Given the description of an element on the screen output the (x, y) to click on. 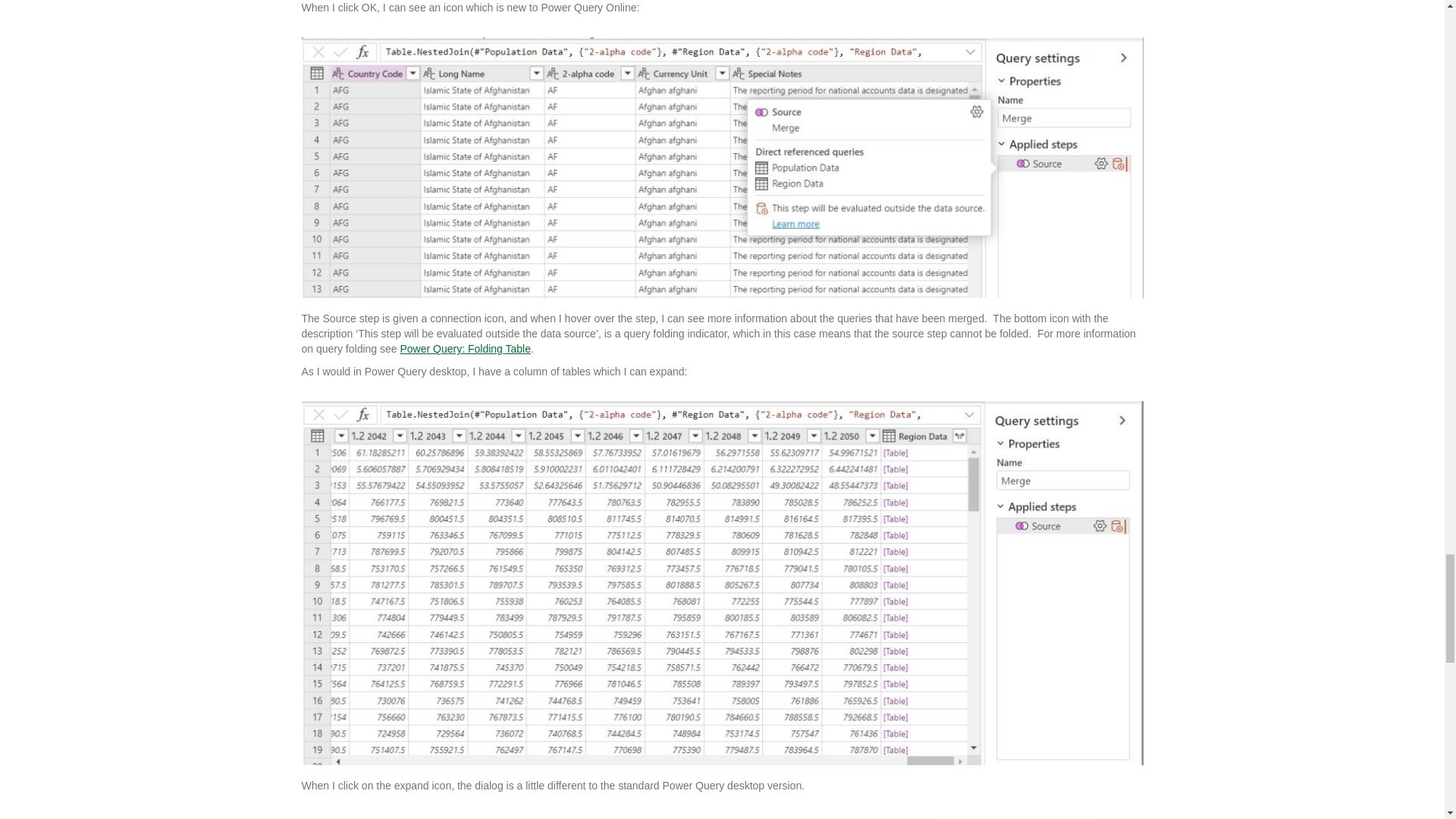
Power Query: Folding Table (464, 348)
